Given the description of an element on the screen output the (x, y) to click on. 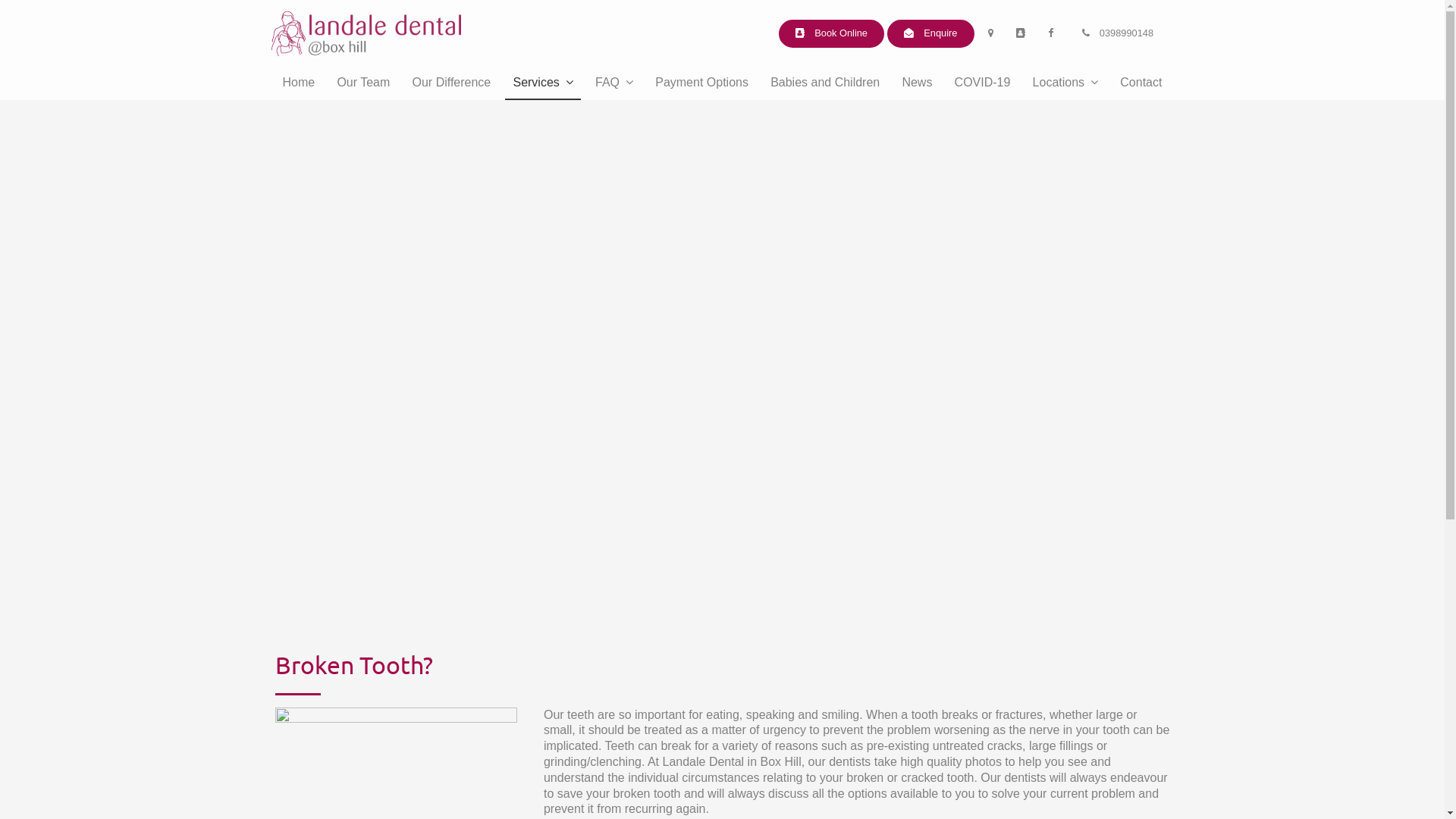
Babies and Children Element type: text (824, 83)
News Element type: text (916, 83)
Our Difference Element type: text (451, 83)
COVID-19 Element type: text (982, 83)
Home Element type: text (298, 83)
Services Element type: text (542, 83)
Contact Element type: text (1140, 83)
Book Online Element type: text (831, 33)
Enquire Element type: text (930, 33)
0398990148 Element type: text (1117, 33)
FAQ Element type: text (613, 83)
Our Team Element type: text (363, 83)
Locations Element type: text (1065, 83)
Payment Options Element type: text (701, 83)
